Given the description of an element on the screen output the (x, y) to click on. 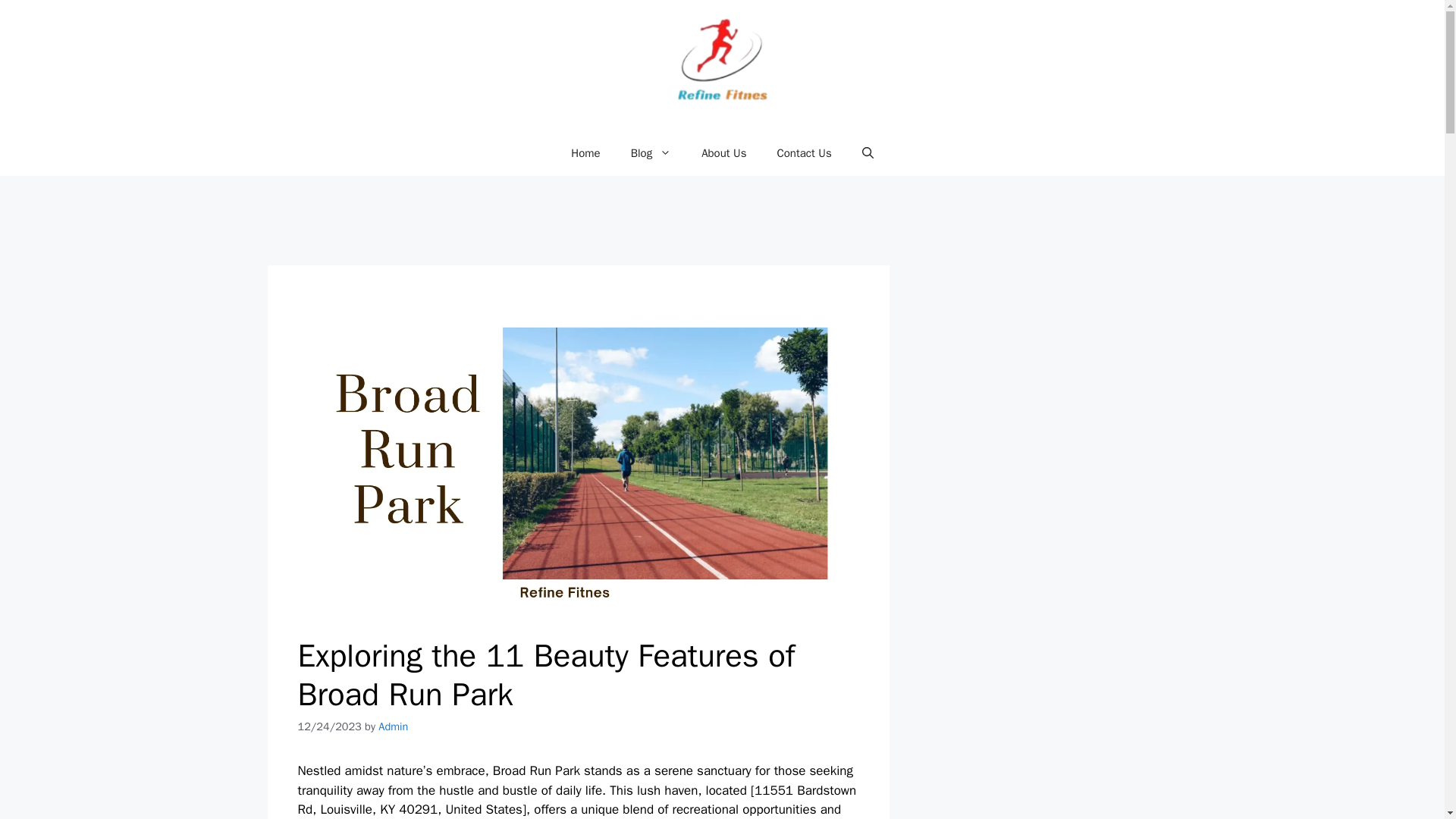
Admin (392, 726)
Home (585, 153)
Contact Us (803, 153)
Blog (650, 153)
View all posts by Admin (392, 726)
About Us (723, 153)
